Given the description of an element on the screen output the (x, y) to click on. 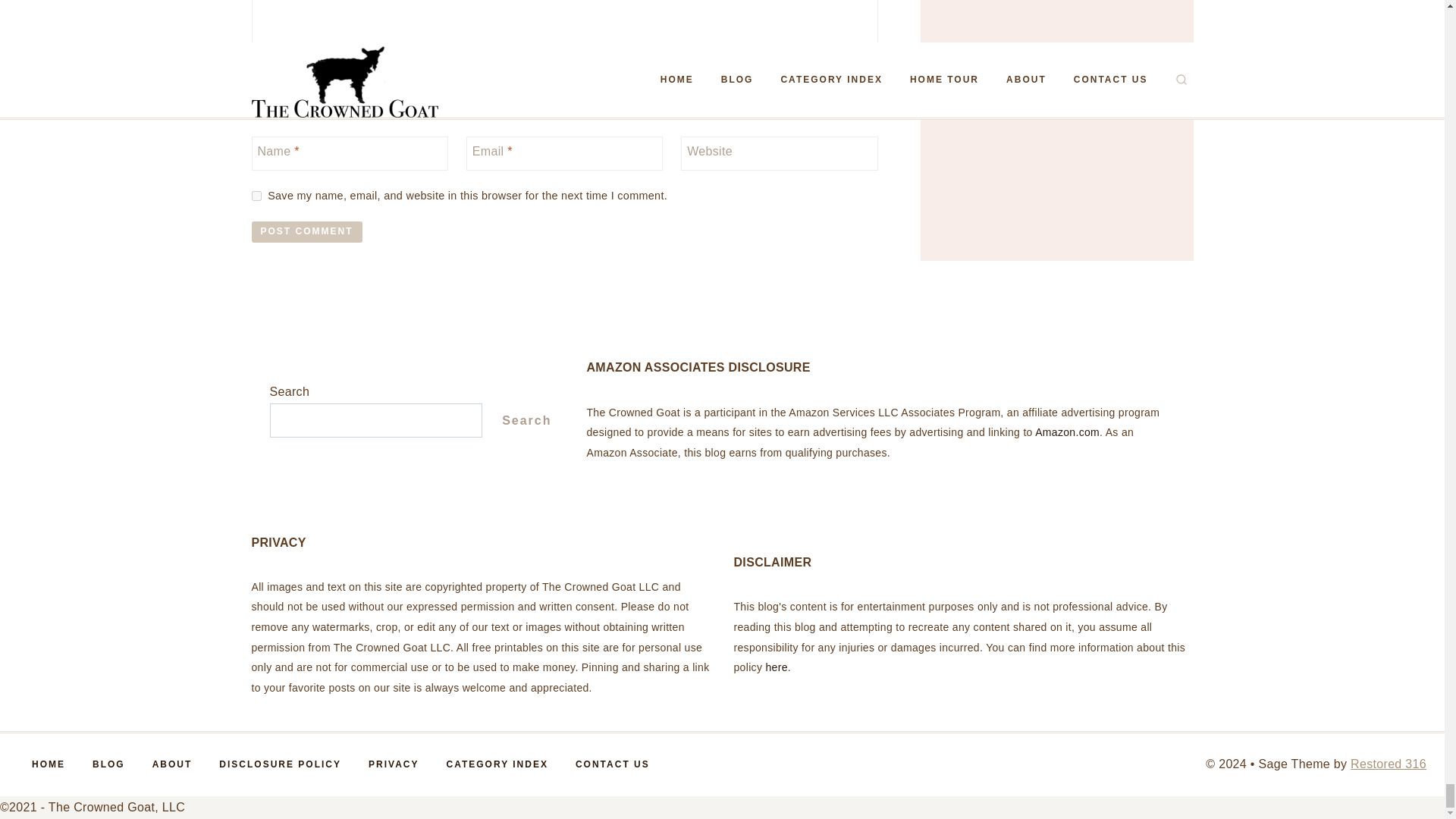
Post Comment (306, 232)
yes (256, 195)
